Given the description of an element on the screen output the (x, y) to click on. 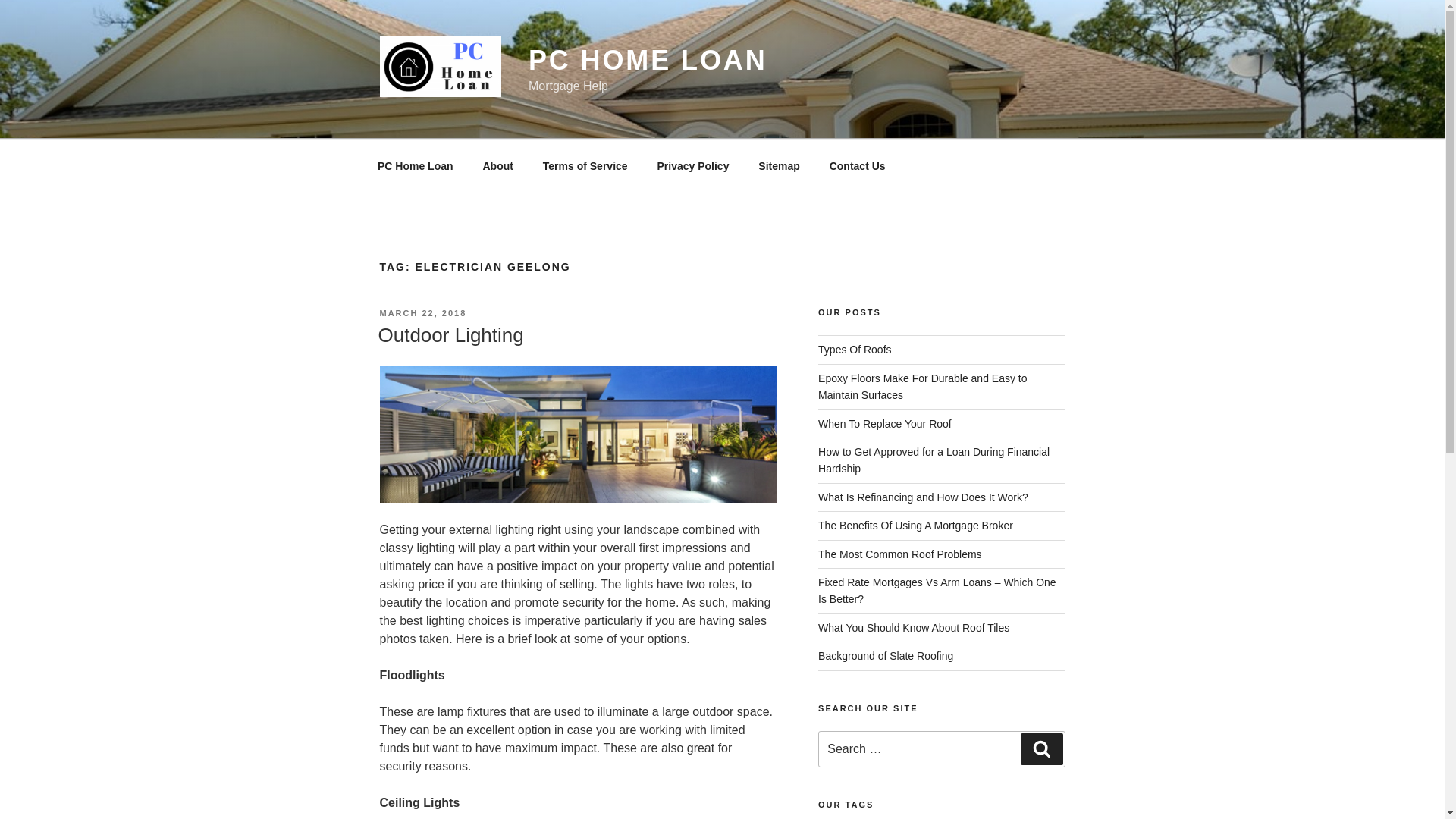
Search (1041, 748)
PC Home Loan (414, 165)
Contact Us (856, 165)
PC HOME LOAN (647, 60)
About (496, 165)
Outdoor Lighting (449, 334)
The Most Common Roof Problems (899, 553)
When To Replace Your Roof (885, 423)
Privacy Policy (692, 165)
Background of Slate Roofing (885, 655)
